Given the description of an element on the screen output the (x, y) to click on. 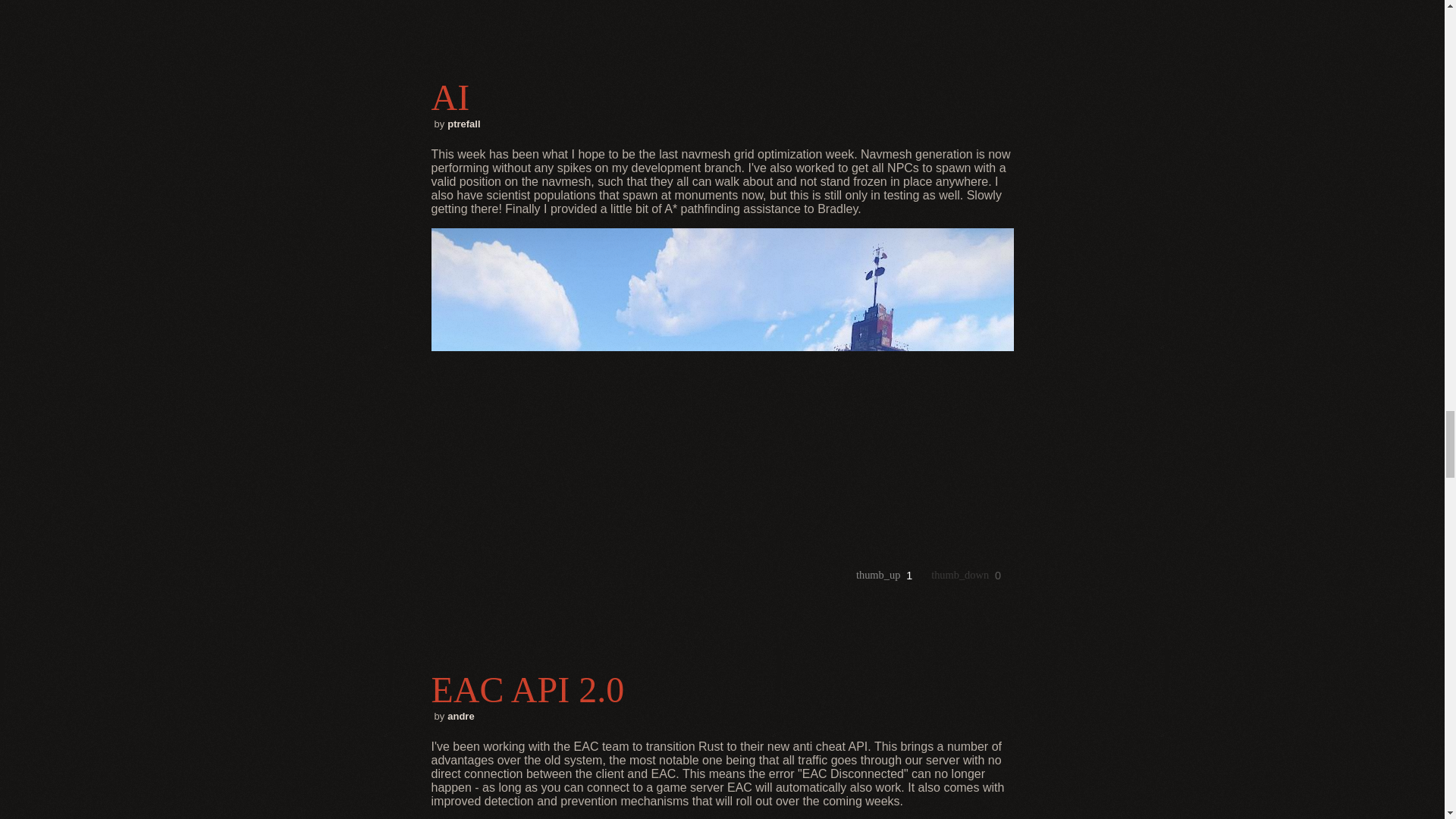
EAC API 2.0 (721, 689)
AI (721, 96)
andre (460, 715)
ptrefall (463, 123)
